Given the description of an element on the screen output the (x, y) to click on. 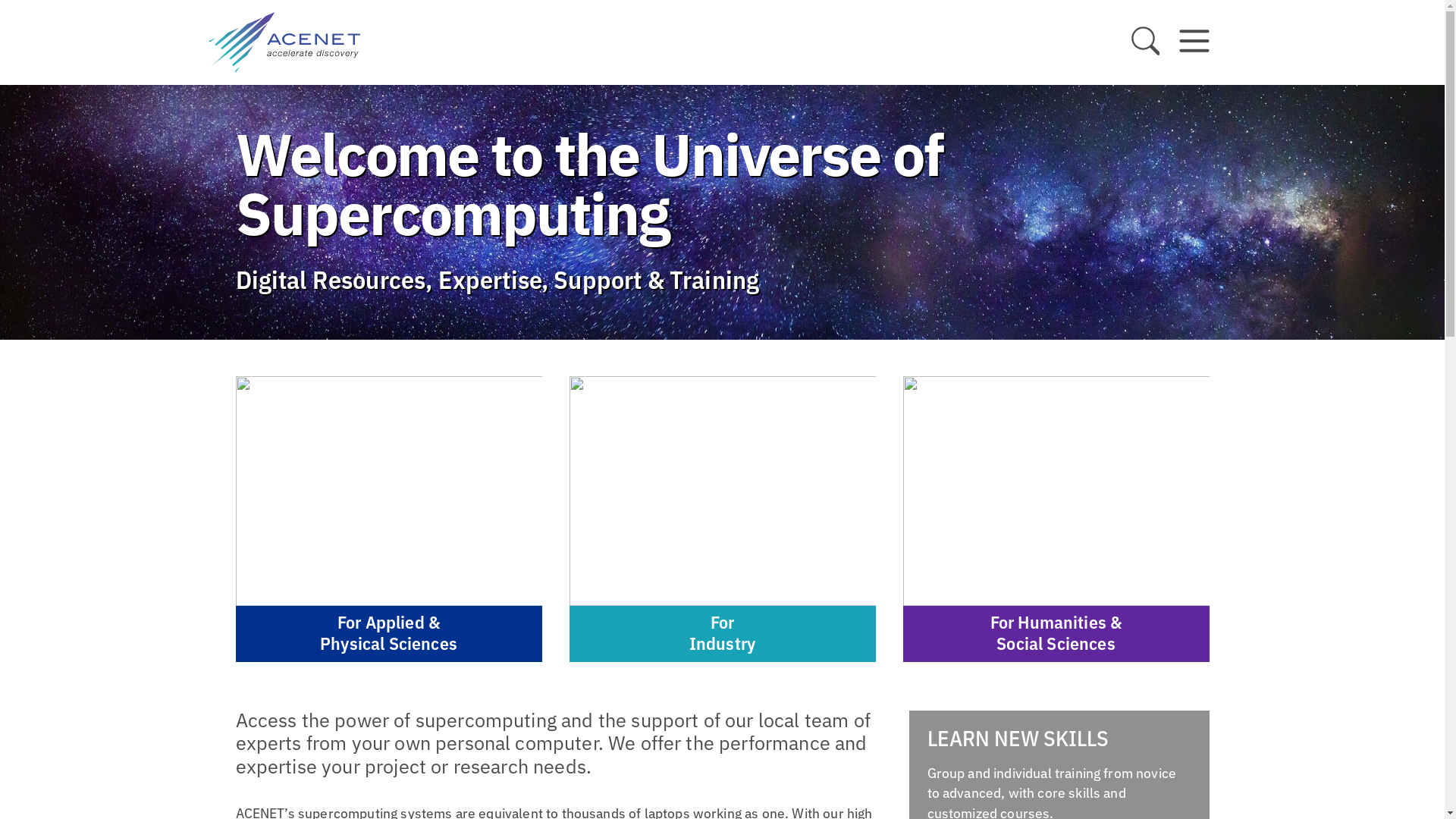
For Applied &
Physical Sciences Element type: text (388, 519)
For Humanities &
Social Sciences Element type: text (1055, 519)
For
Industry Element type: text (721, 519)
